Given the description of an element on the screen output the (x, y) to click on. 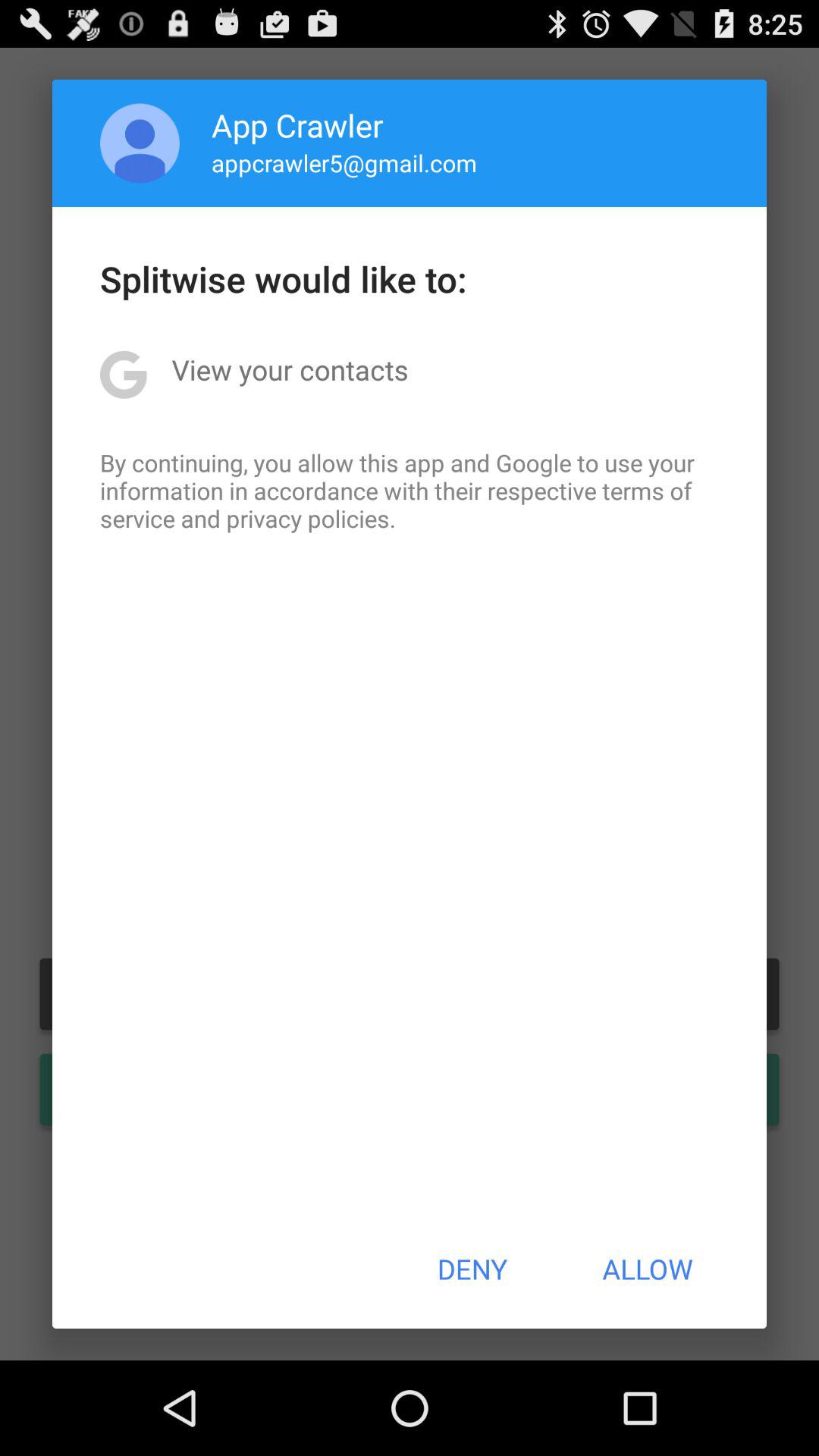
flip until deny button (471, 1268)
